Given the description of an element on the screen output the (x, y) to click on. 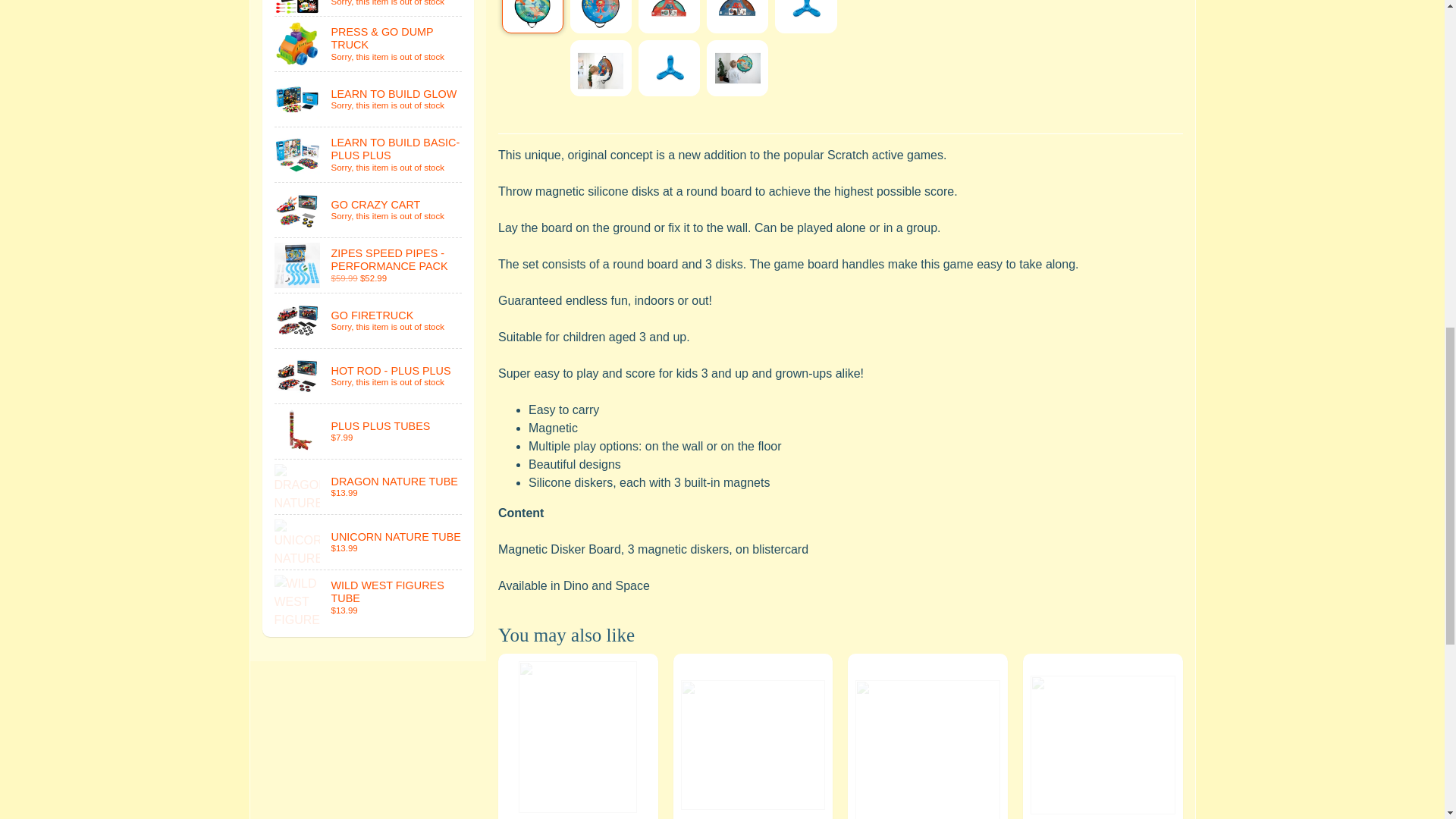
WILD WEST FIGURES TUBE (369, 597)
DRAGON NATURE TUBE (369, 486)
DISKER GAME - DINO AND SPACE (669, 16)
GO FIRETRUCK (369, 320)
HOT ROD - PLUS PLUS (369, 375)
DISKER GAME - DINO AND SPACE (532, 16)
PLUS PLUS TUBES (369, 431)
UNICORN NATURE TUBE (369, 542)
SUPER HERO DARTBOARD (369, 7)
DISKER GAME - DINO AND SPACE (600, 16)
